Given the description of an element on the screen output the (x, y) to click on. 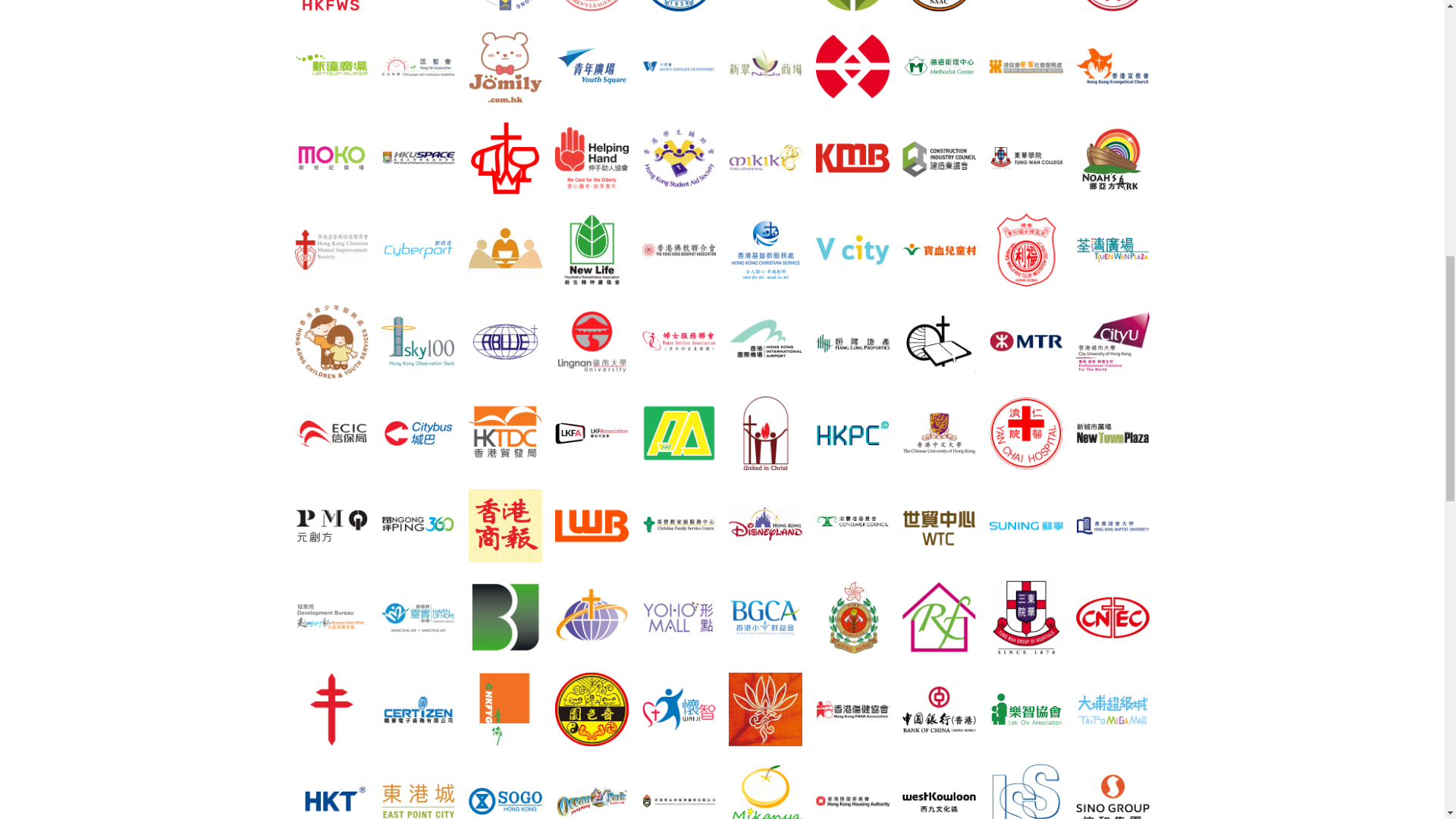
Hong Kong Family Welfare Society (331, 5)
AsiaWorld-Expo Management Limited (417, 5)
